Given the description of an element on the screen output the (x, y) to click on. 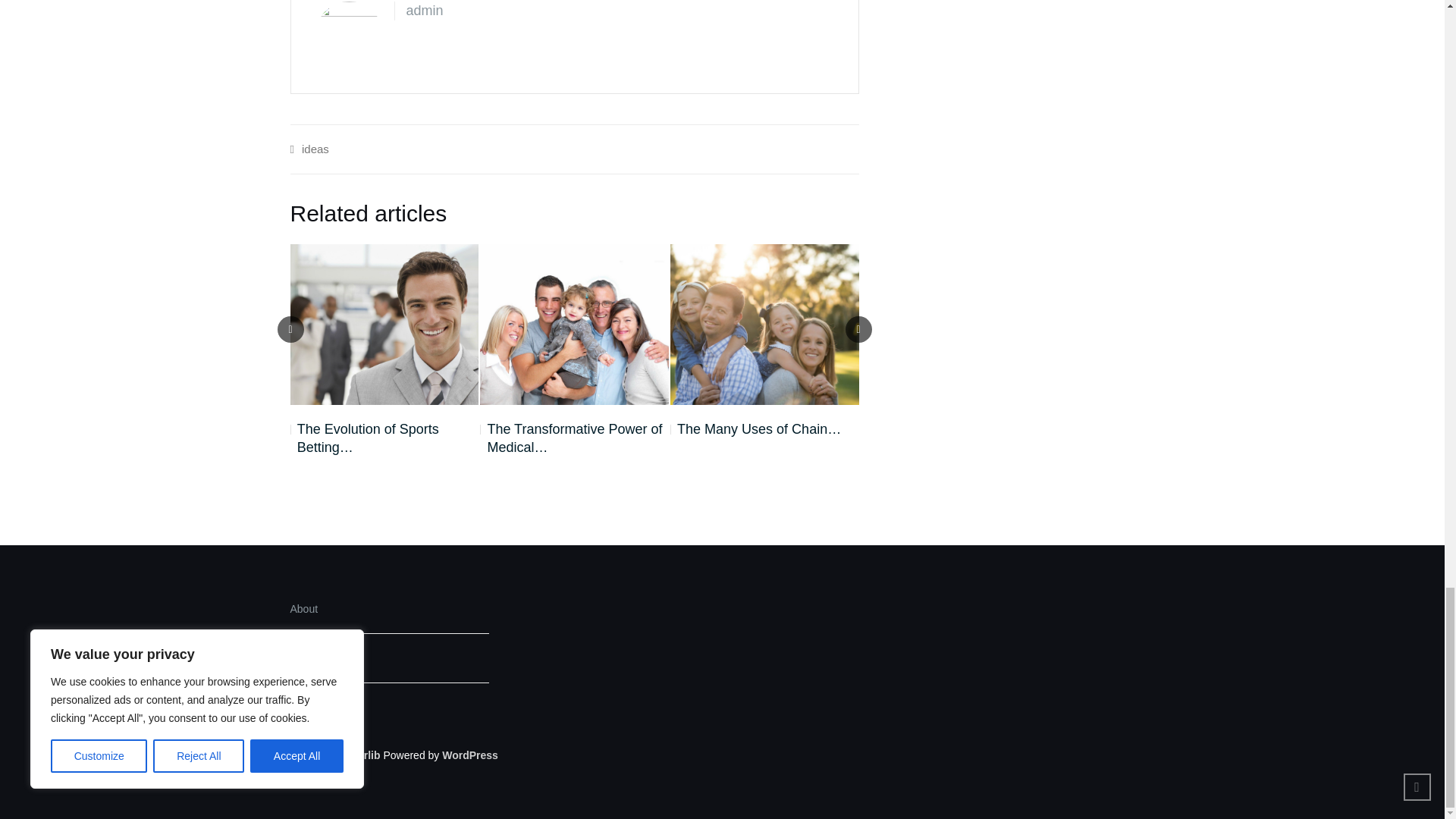
WordPress.org (469, 755)
Colorlib (360, 755)
ideas (315, 148)
